Given the description of an element on the screen output the (x, y) to click on. 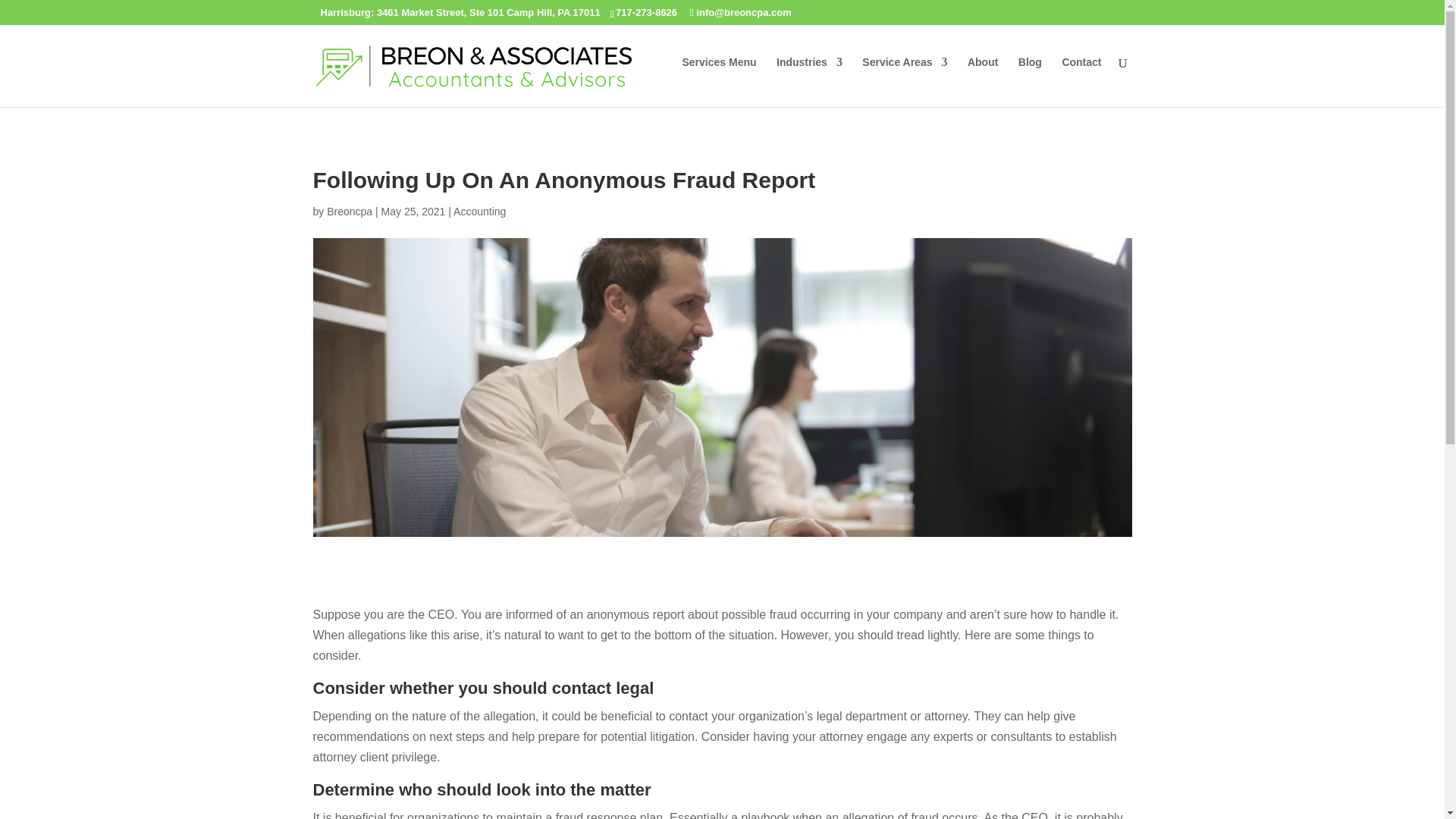
Posts by Breoncpa (349, 211)
717-273-8626 (646, 12)
Services Menu (718, 76)
Service Areas (904, 76)
Contact (1080, 76)
Industries (809, 76)
